Given the description of an element on the screen output the (x, y) to click on. 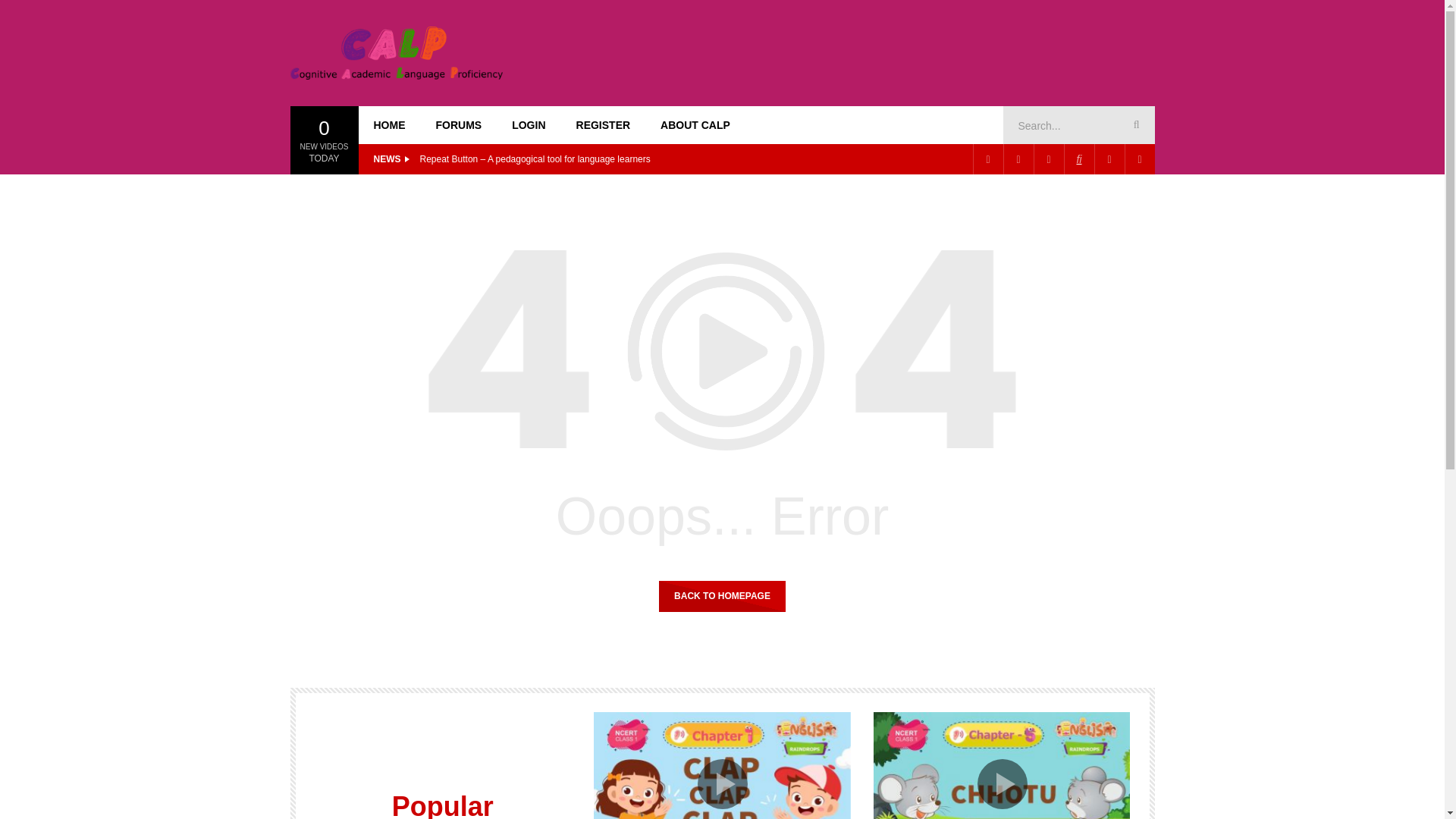
Notifications (1139, 159)
LOGIN (528, 125)
REGISTER (603, 125)
Pinterest (1017, 159)
HOME (389, 125)
TikTok (1077, 159)
Facebook (987, 159)
Youtube (1047, 159)
ABOUT CALP (695, 125)
Search (1133, 125)
CALP Training (395, 52)
FORUMS (458, 125)
Search (1133, 125)
BACK TO HOMEPAGE (722, 595)
Watch later (1108, 159)
